Given the description of an element on the screen output the (x, y) to click on. 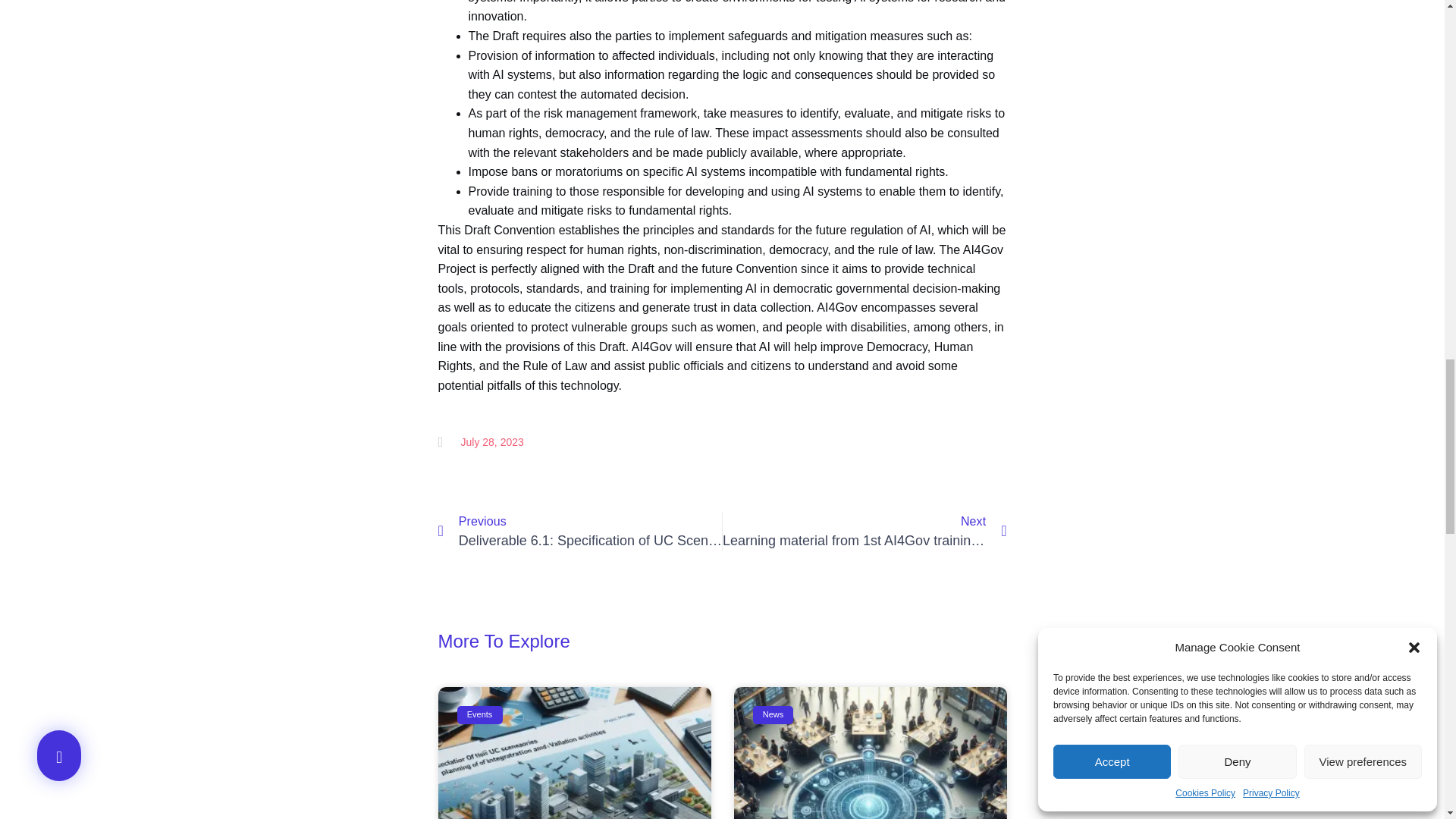
July 28, 2023 (481, 442)
